Given the description of an element on the screen output the (x, y) to click on. 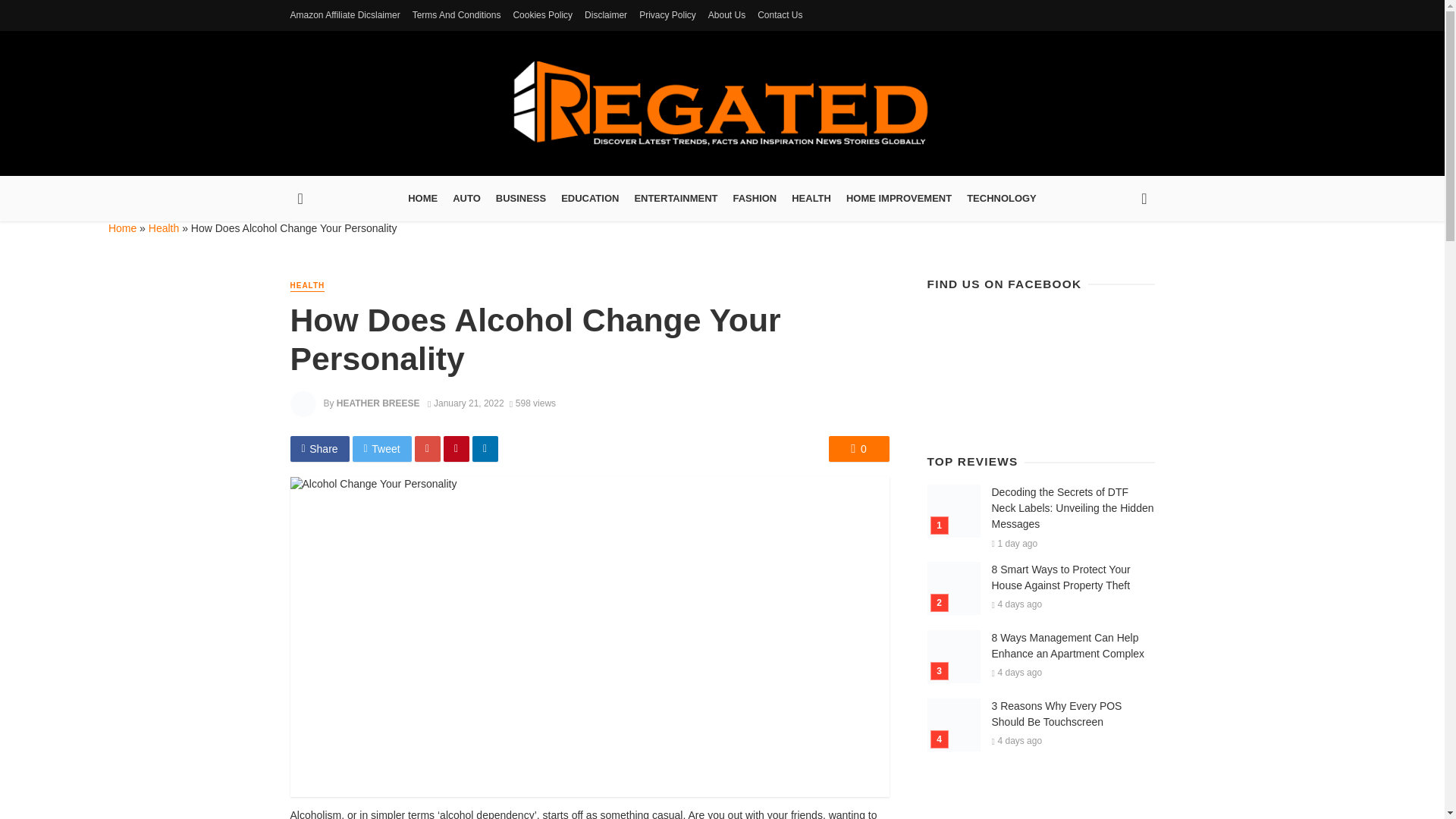
HEALTH (811, 198)
Posts by Heather Breese (378, 403)
0 Comments (858, 448)
0 (858, 448)
Home (121, 227)
Terms And Conditions (456, 14)
About Us (726, 14)
HOME (422, 198)
EDUCATION (589, 198)
AUTO (466, 198)
BUSINESS (520, 198)
Privacy Policy (667, 14)
Cookies Policy (542, 14)
Share on Linkedin (484, 448)
